Given the description of an element on the screen output the (x, y) to click on. 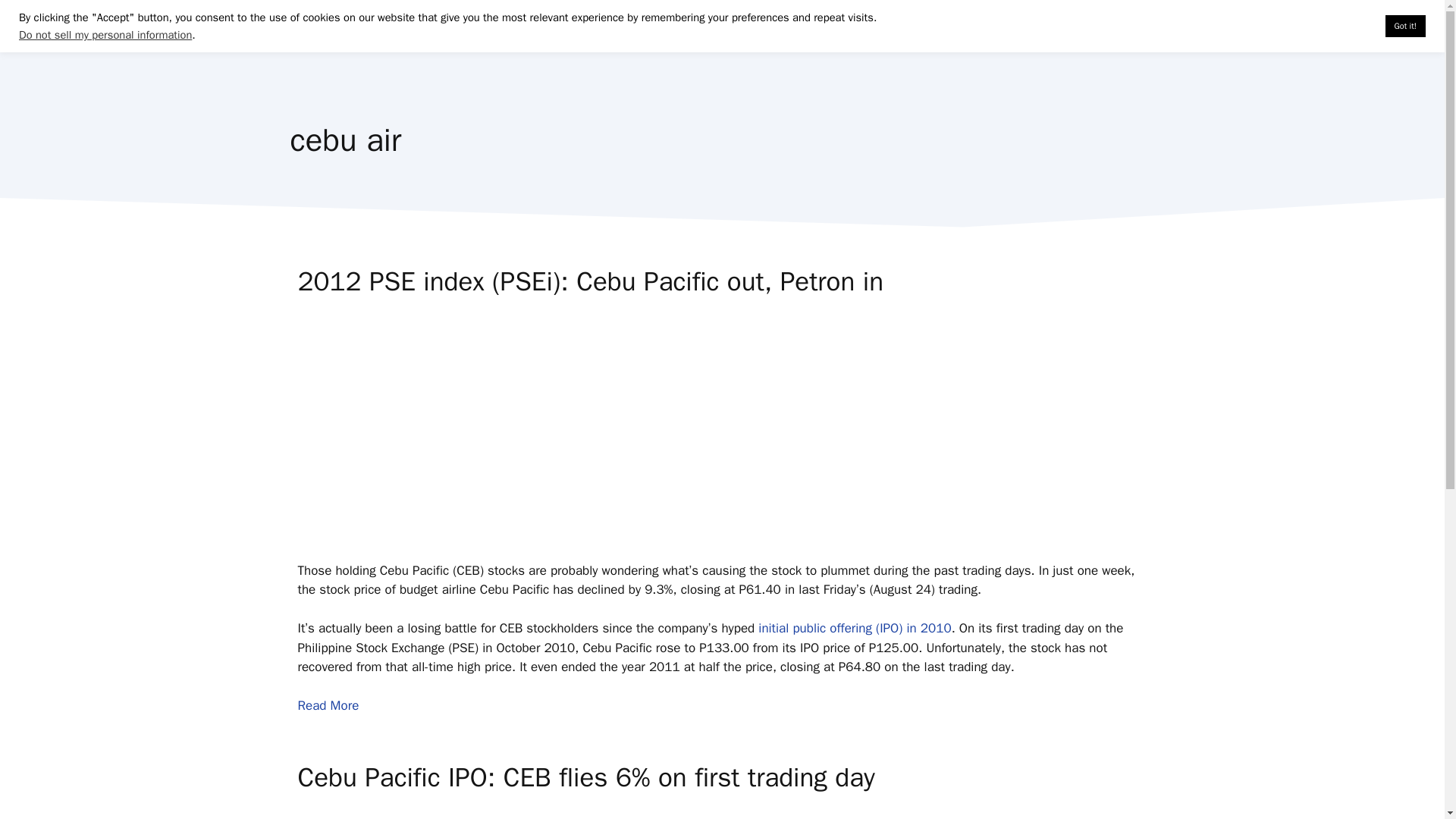
Do not sell my personal information (105, 34)
Read More (327, 705)
Investing 101 (861, 37)
Home (668, 37)
Stock Trading (754, 37)
Follow on Facebook (986, 37)
Stock Tips (1102, 37)
Got it! (1405, 25)
Cookie settings (1335, 26)
